Given the description of an element on the screen output the (x, y) to click on. 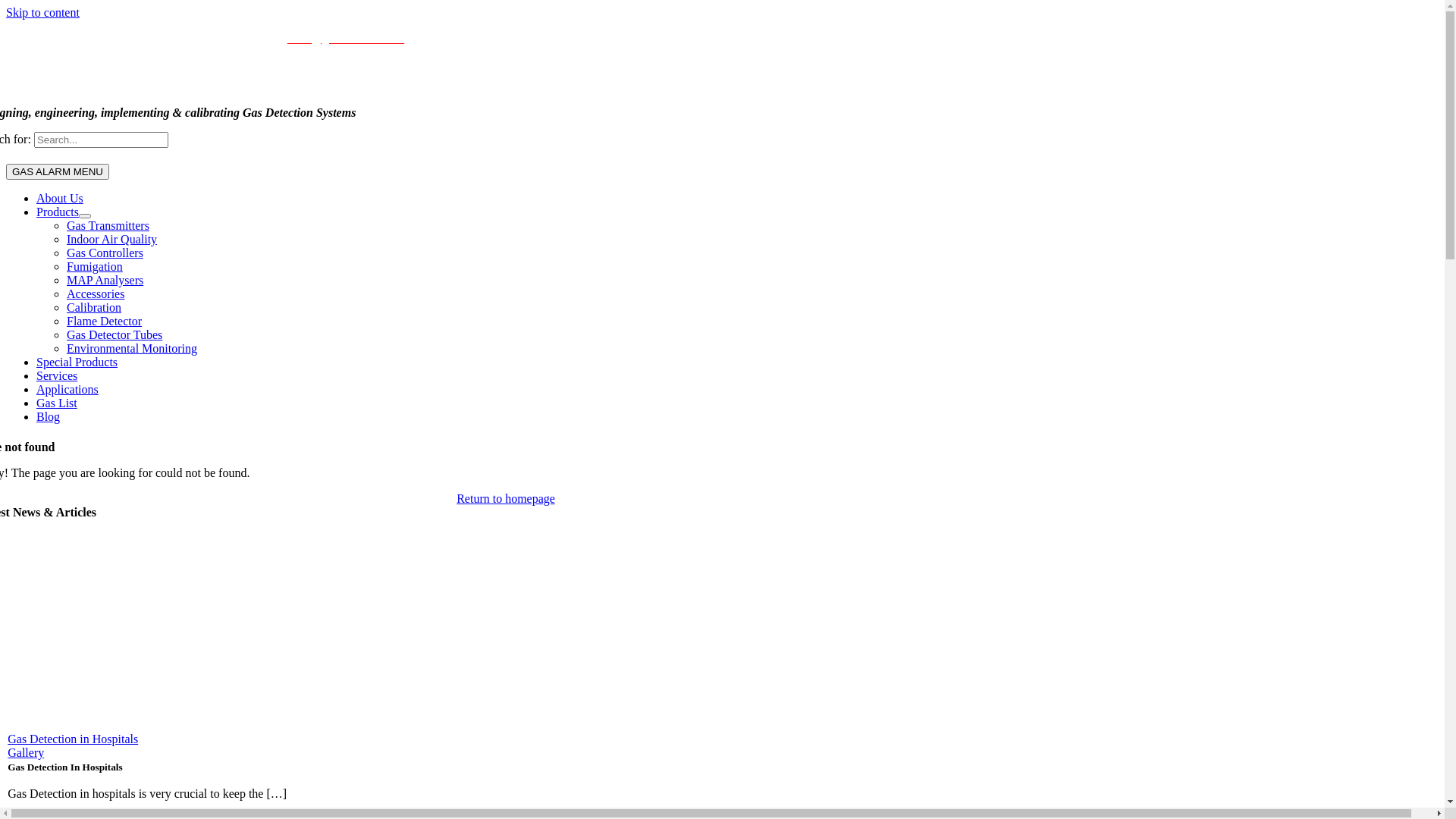
Blog Element type: text (47, 416)
Accessories Element type: text (95, 293)
Services Element type: text (56, 375)
About Us Element type: text (59, 197)
Gas Detector Tubes Element type: text (114, 334)
Products Element type: text (57, 211)
Skip to content Element type: text (42, 12)
Indoor Air Quality Element type: text (111, 238)
Gas Controllers Element type: text (104, 252)
+61 2 9838 7664 Element type: text (121, 37)
Environmental Monitoring Element type: text (131, 348)
Applications Element type: text (67, 388)
Gas Transmitters Element type: text (107, 225)
GAS ALARM MENU Element type: text (57, 171)
Fumigation Element type: text (94, 266)
Flame Detector Element type: text (103, 320)
MAP Analysers Element type: text (104, 279)
Gas Detection in Hospitals Element type: text (72, 738)
Gas List Element type: text (56, 402)
Special Products Element type: text (76, 361)
Calibration Element type: text (93, 307)
Gallery Element type: text (25, 752)
Return to homepage Element type: text (505, 498)
heading-separator Element type: hover (505, 524)
sales@gasalarm.com.au Element type: text (345, 37)
+61 413 330 003 Element type: text (225, 37)
